Given the description of an element on the screen output the (x, y) to click on. 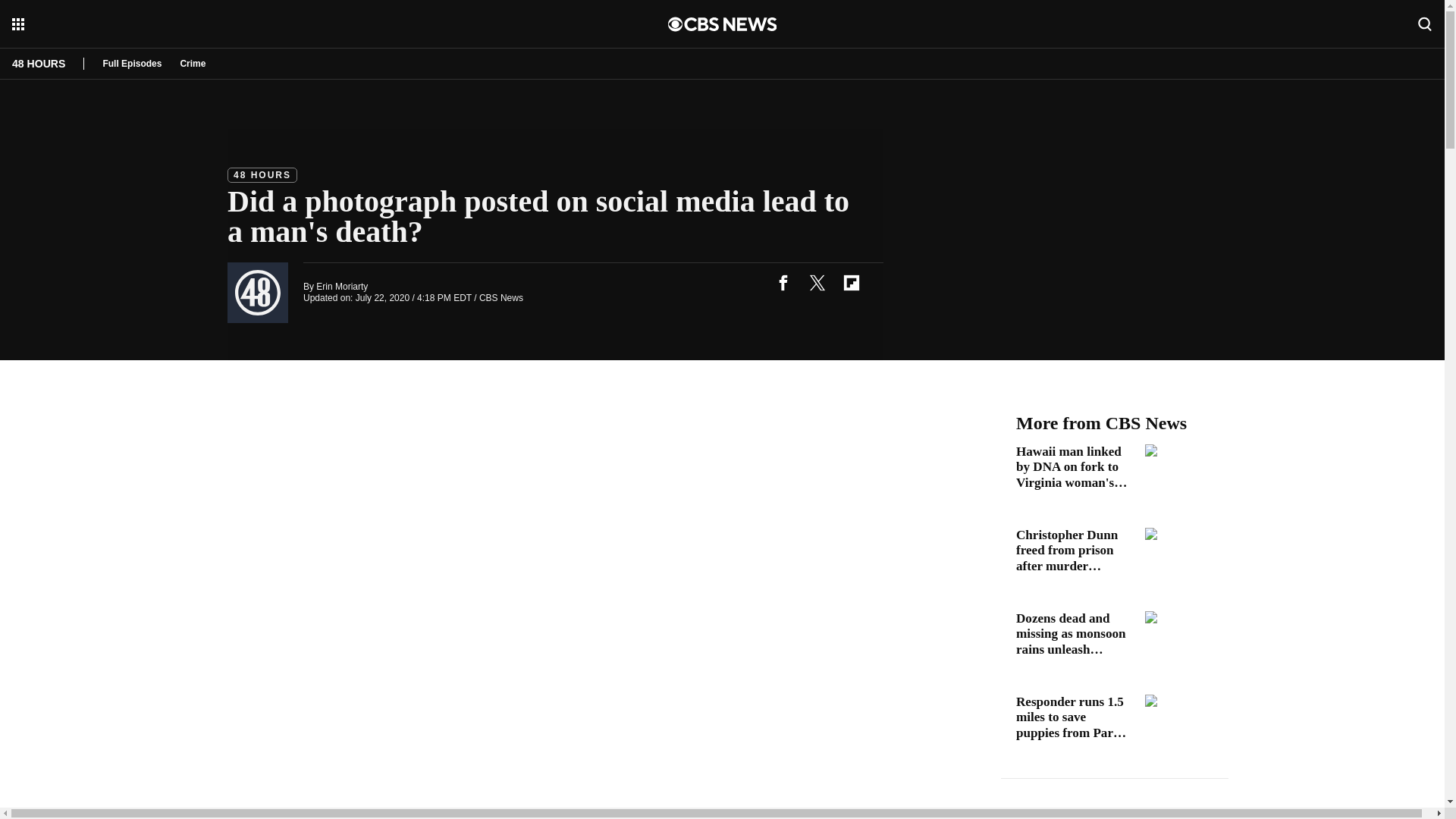
facebook (782, 282)
twitter (816, 282)
flipboard (850, 282)
